Given the description of an element on the screen output the (x, y) to click on. 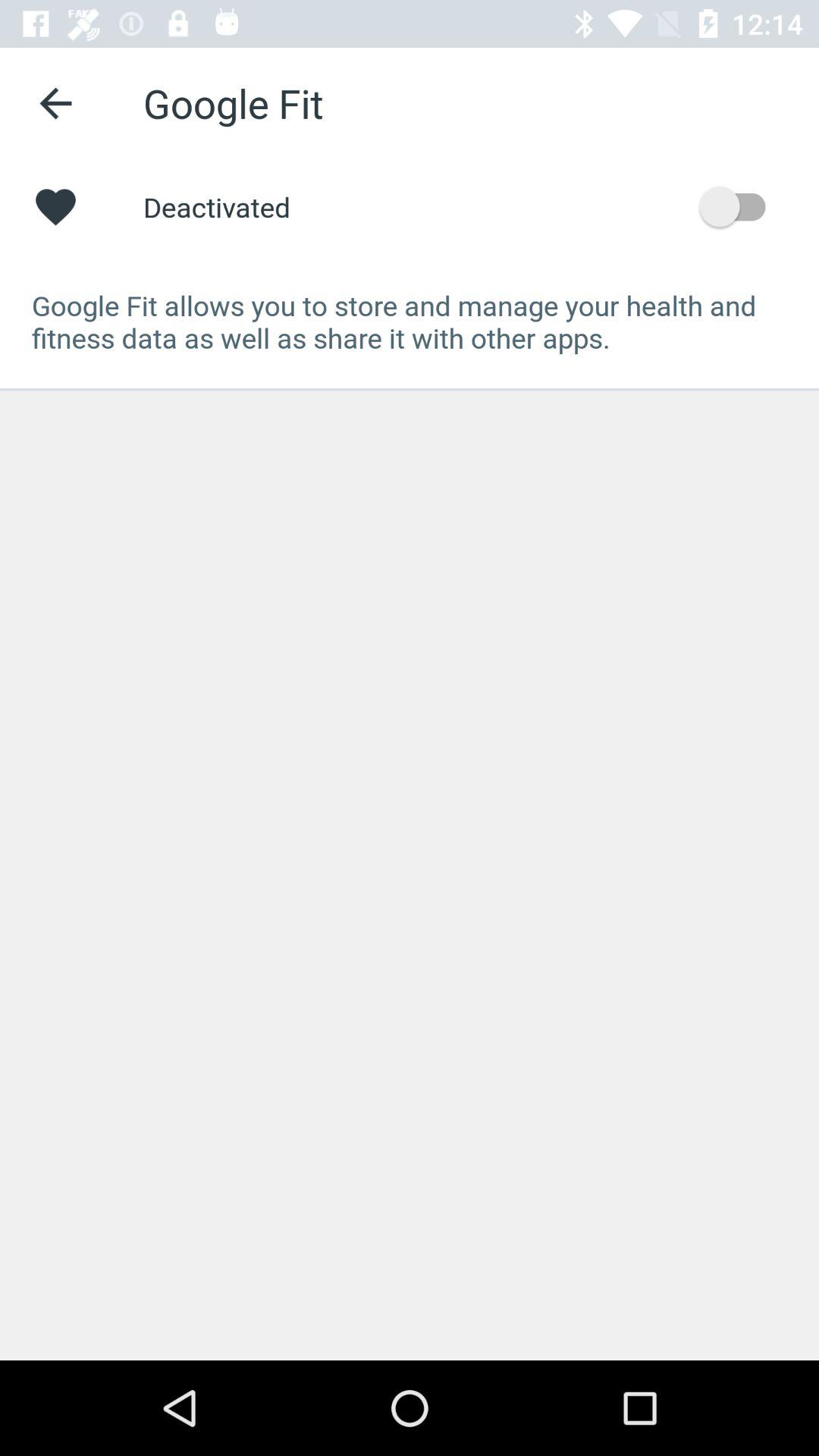
toggle on (739, 206)
